Given the description of an element on the screen output the (x, y) to click on. 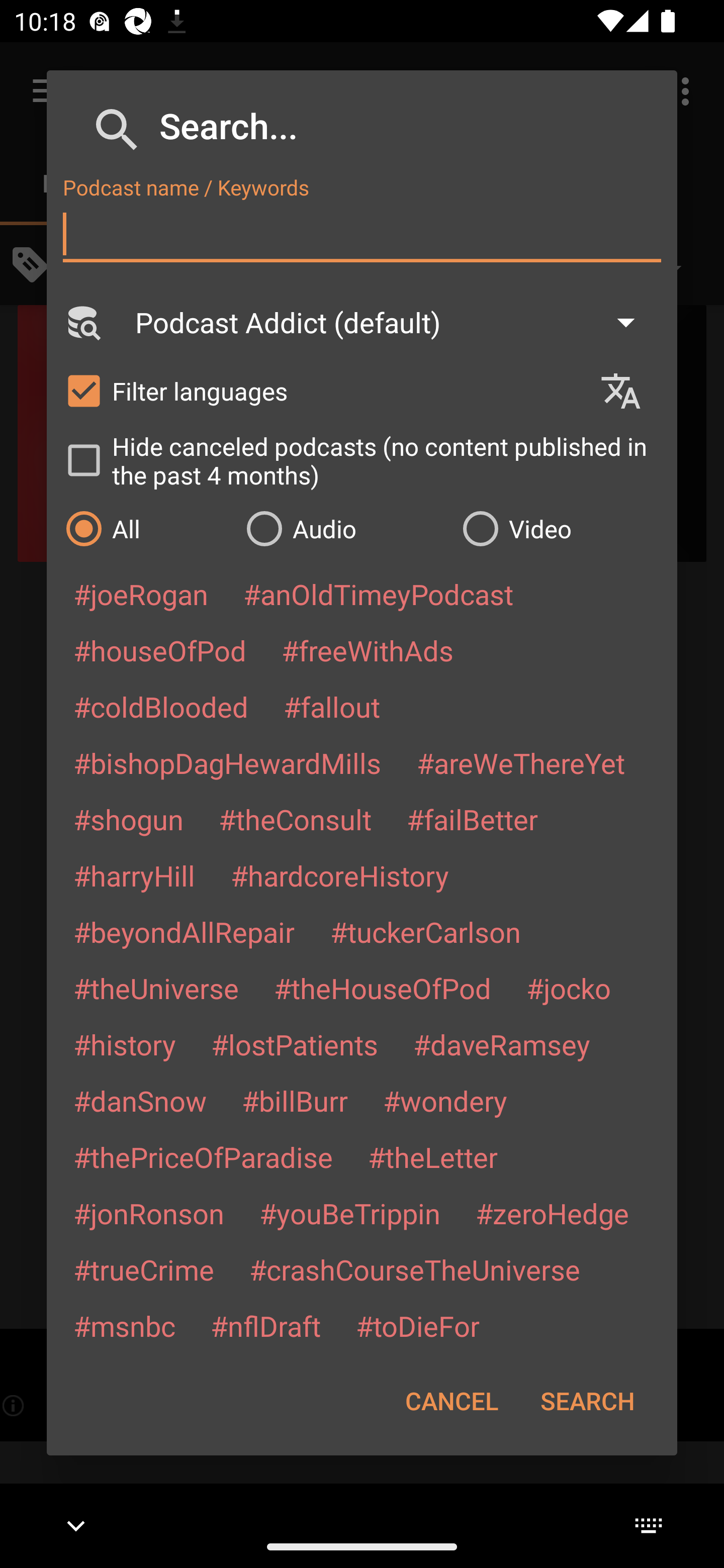
Podcast name / Keywords (361, 234)
Search Engine (82, 322)
Podcast Addict (default) (394, 322)
Languages selection (629, 390)
Filter languages (322, 390)
All (145, 528)
Audio (344, 528)
Video (560, 528)
#joeRogan (140, 594)
#anOldTimeyPodcast (378, 594)
#houseOfPod (159, 650)
#freeWithAds (367, 650)
#coldBlooded (160, 705)
#fallout (331, 705)
#bishopDagHewardMills (227, 762)
#areWeThereYet (521, 762)
#shogun (128, 818)
#theConsult (294, 818)
#failBetter (471, 818)
#harryHill (134, 875)
#hardcoreHistory (339, 875)
#beyondAllRepair (184, 931)
#tuckerCarlson (425, 931)
#theUniverse (155, 987)
#theHouseOfPod (381, 987)
#jocko (568, 987)
#history (124, 1044)
#lostPatients (294, 1044)
#daveRamsey (501, 1044)
#danSnow (139, 1100)
#billBurr (294, 1100)
#wondery (444, 1100)
#thePriceOfParadise (203, 1157)
#theLetter (432, 1157)
#jonRonson (148, 1213)
#youBeTrippin (349, 1213)
#zeroHedge (552, 1213)
#trueCrime (143, 1268)
#crashCourseTheUniverse (414, 1268)
#msnbc (124, 1325)
#nflDraft (265, 1325)
#toDieFor (417, 1325)
CANCEL (451, 1400)
SEARCH (587, 1400)
